Given the description of an element on the screen output the (x, y) to click on. 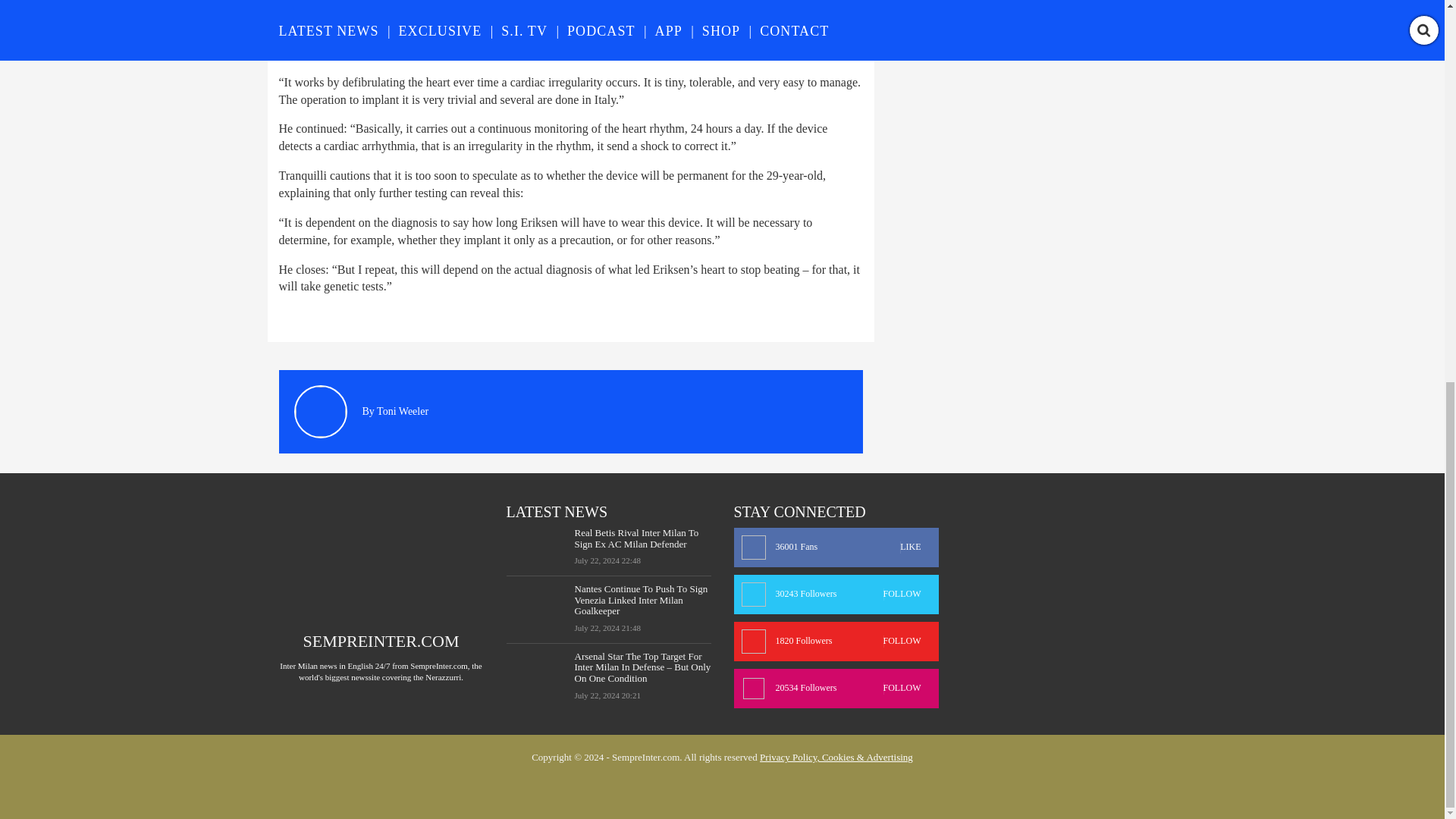
SEMPREINTER.COM (381, 640)
Real Betis Rival Inter Milan To Sign Ex AC Milan Defender (836, 547)
Click here for more Inter Milan News from NewsNow (836, 594)
Inter Milan News (643, 538)
Toni Weeler (987, 34)
View more articles by Toni Weeler (1040, 33)
